Given the description of an element on the screen output the (x, y) to click on. 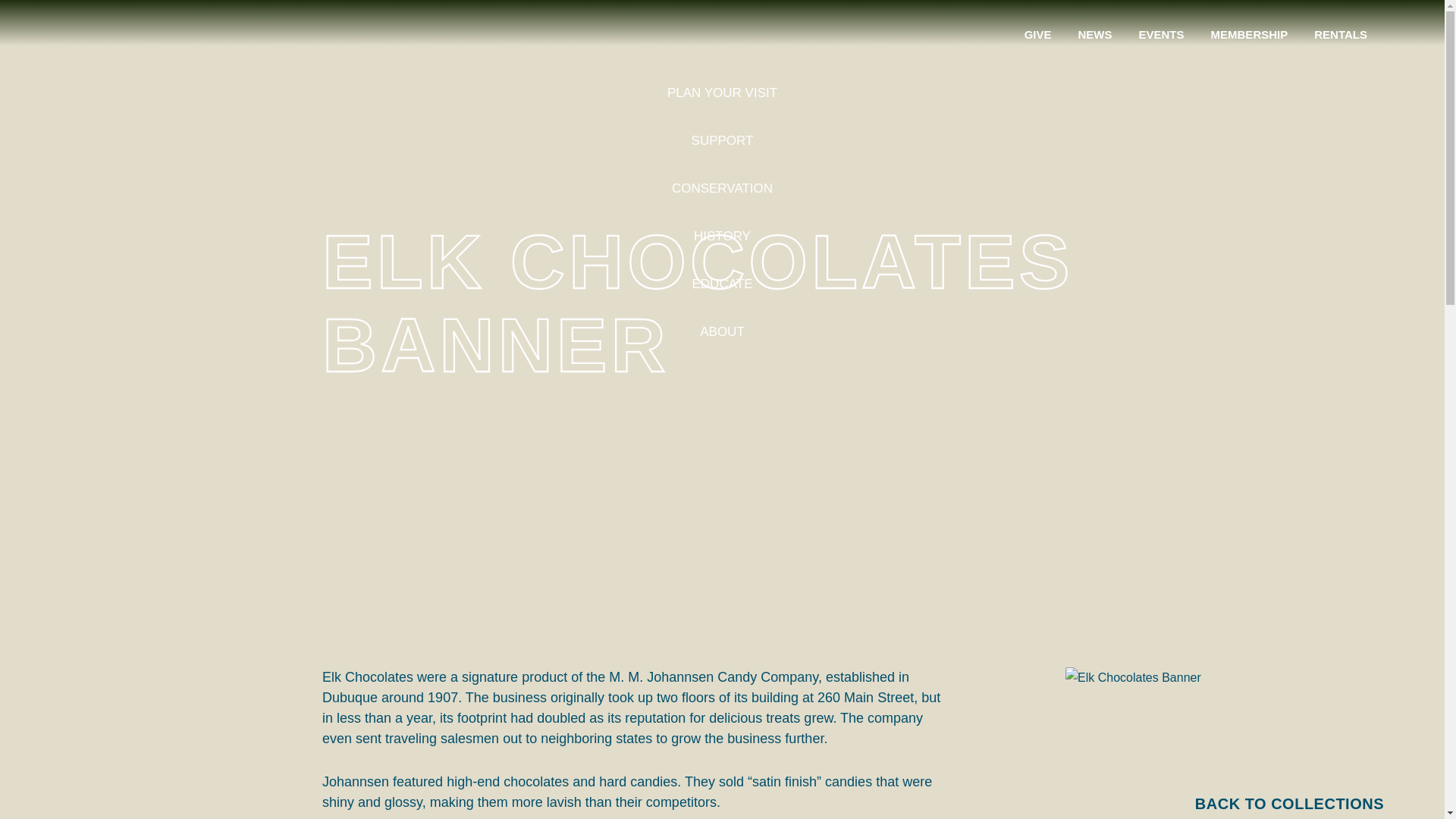
NEWS (1095, 33)
EVENTS (1161, 33)
GIVE (1038, 33)
SEARCH (1403, 34)
RENTALS (1340, 33)
Skip to main content (108, 50)
MEMBERSHIP (1249, 33)
